Given the description of an element on the screen output the (x, y) to click on. 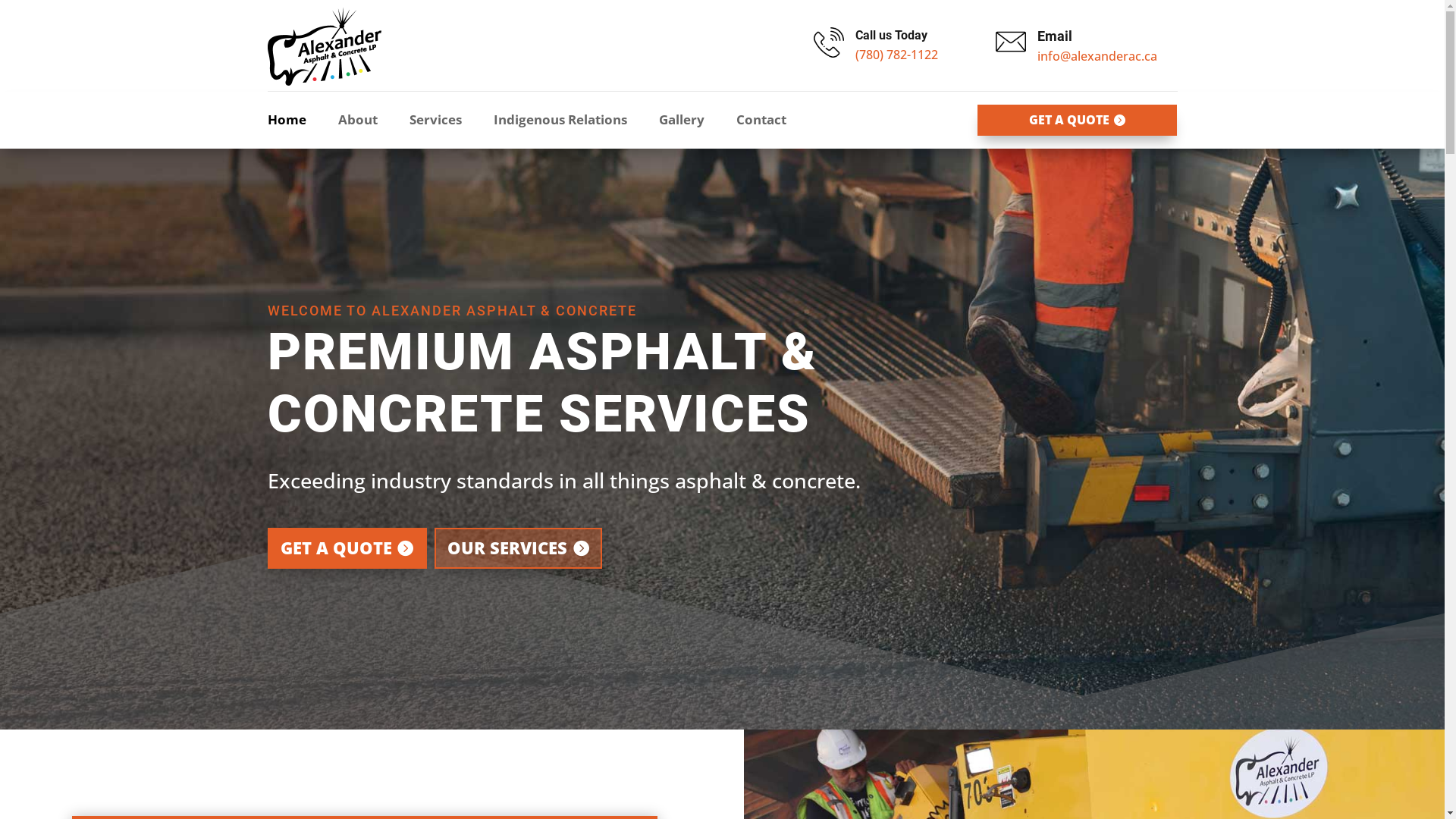
GET A QUOTE Element type: text (1076, 119)
Contact Element type: text (767, 122)
(780) 782-1122 Element type: text (896, 54)
Gallery Element type: text (688, 122)
Services Element type: text (442, 122)
About Element type: text (365, 122)
info@alexanderac.ca Element type: text (1097, 55)
GET A QUOTE Element type: text (346, 548)
OUR SERVICES Element type: text (518, 548)
Indigenous Relations Element type: text (566, 122)
Home Element type: text (293, 122)
